Given the description of an element on the screen output the (x, y) to click on. 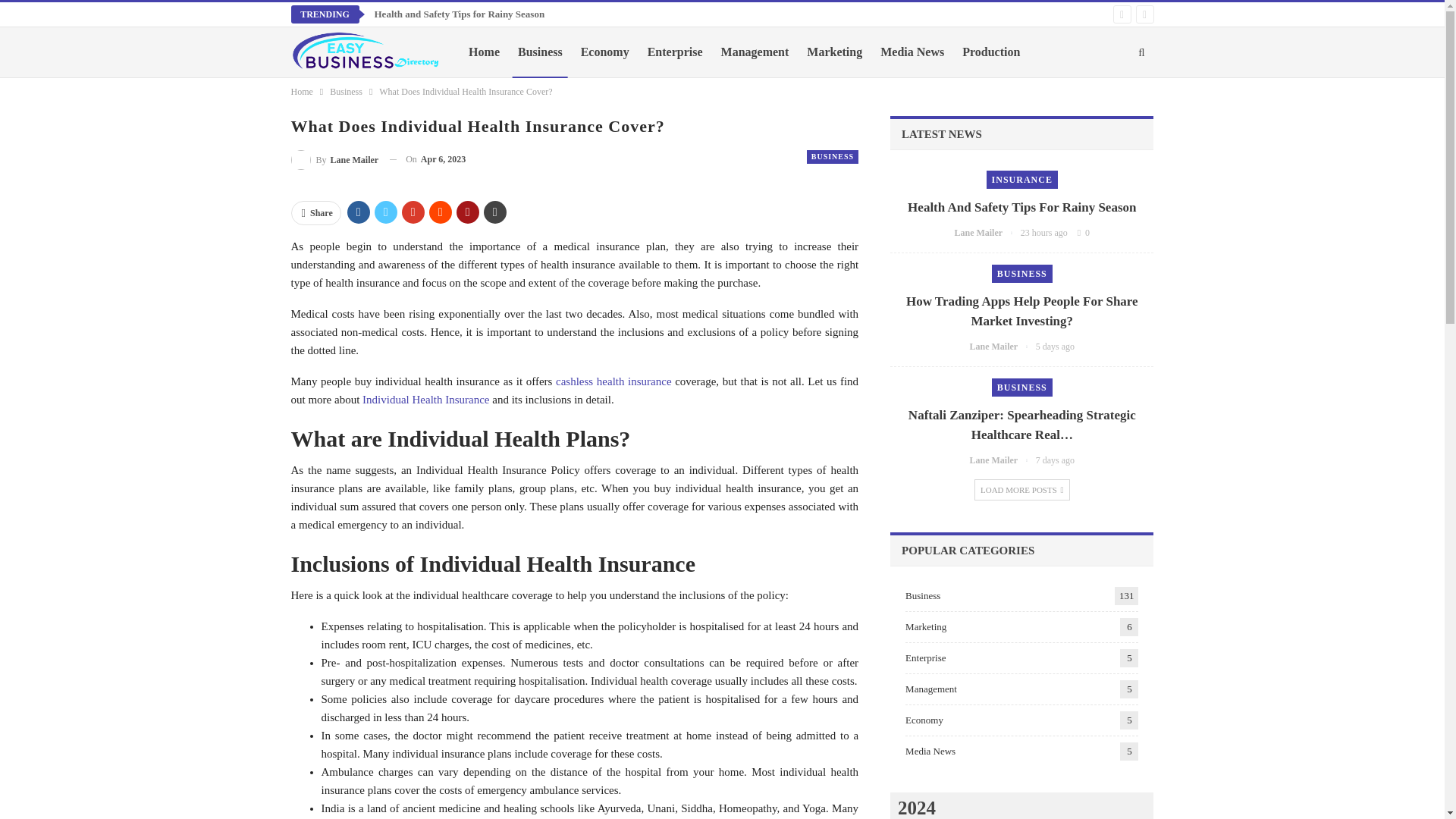
BUSINESS (832, 156)
Business (539, 51)
Marketing (834, 51)
Individual Health Insurance (425, 399)
Enterprise (674, 51)
Media News (912, 51)
Business (346, 91)
Health and Safety Tips for Rainy Season (459, 13)
Home (302, 91)
Economy (604, 51)
